Given the description of an element on the screen output the (x, y) to click on. 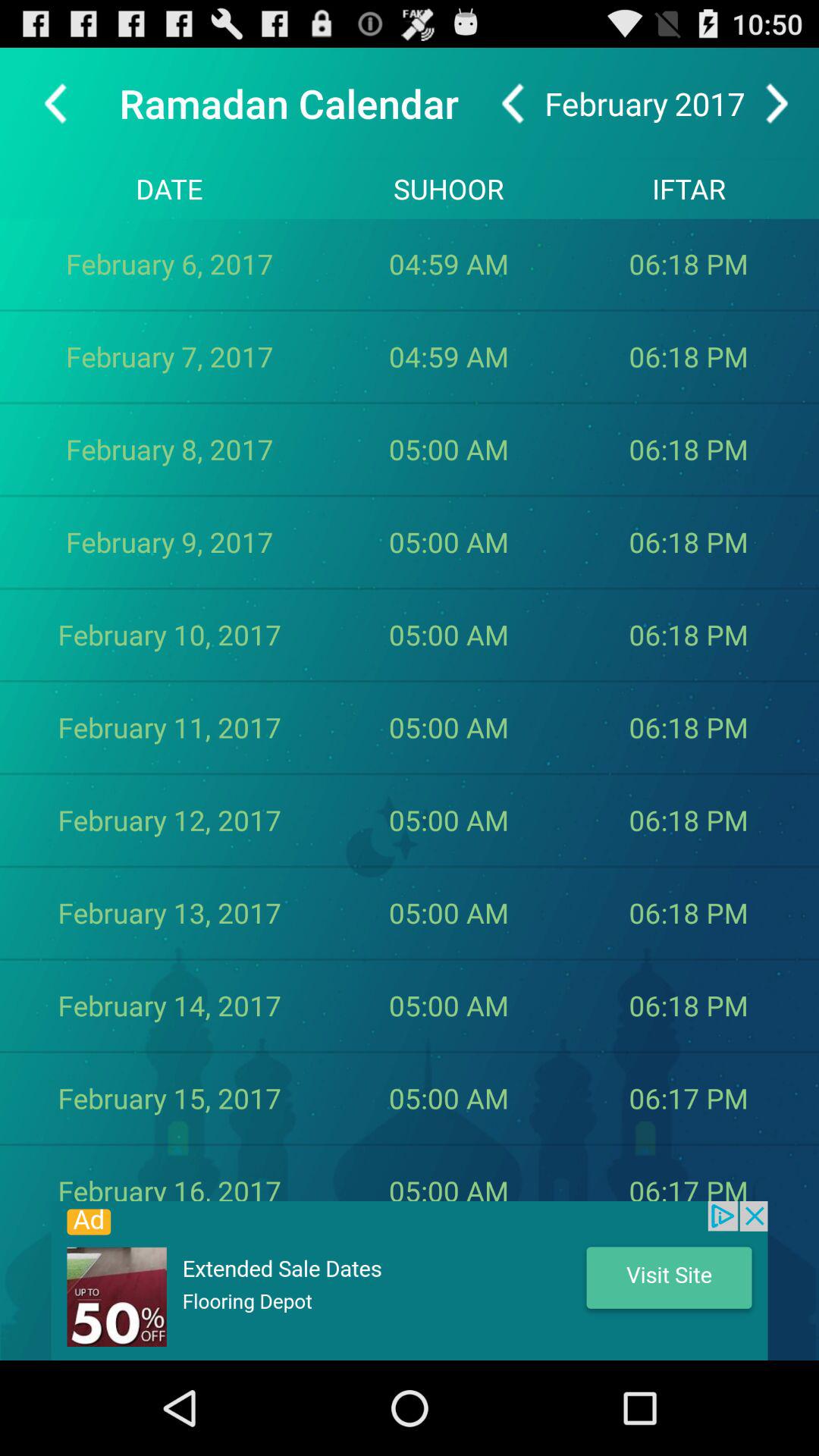
adding advertisement (409, 1280)
